Given the description of an element on the screen output the (x, y) to click on. 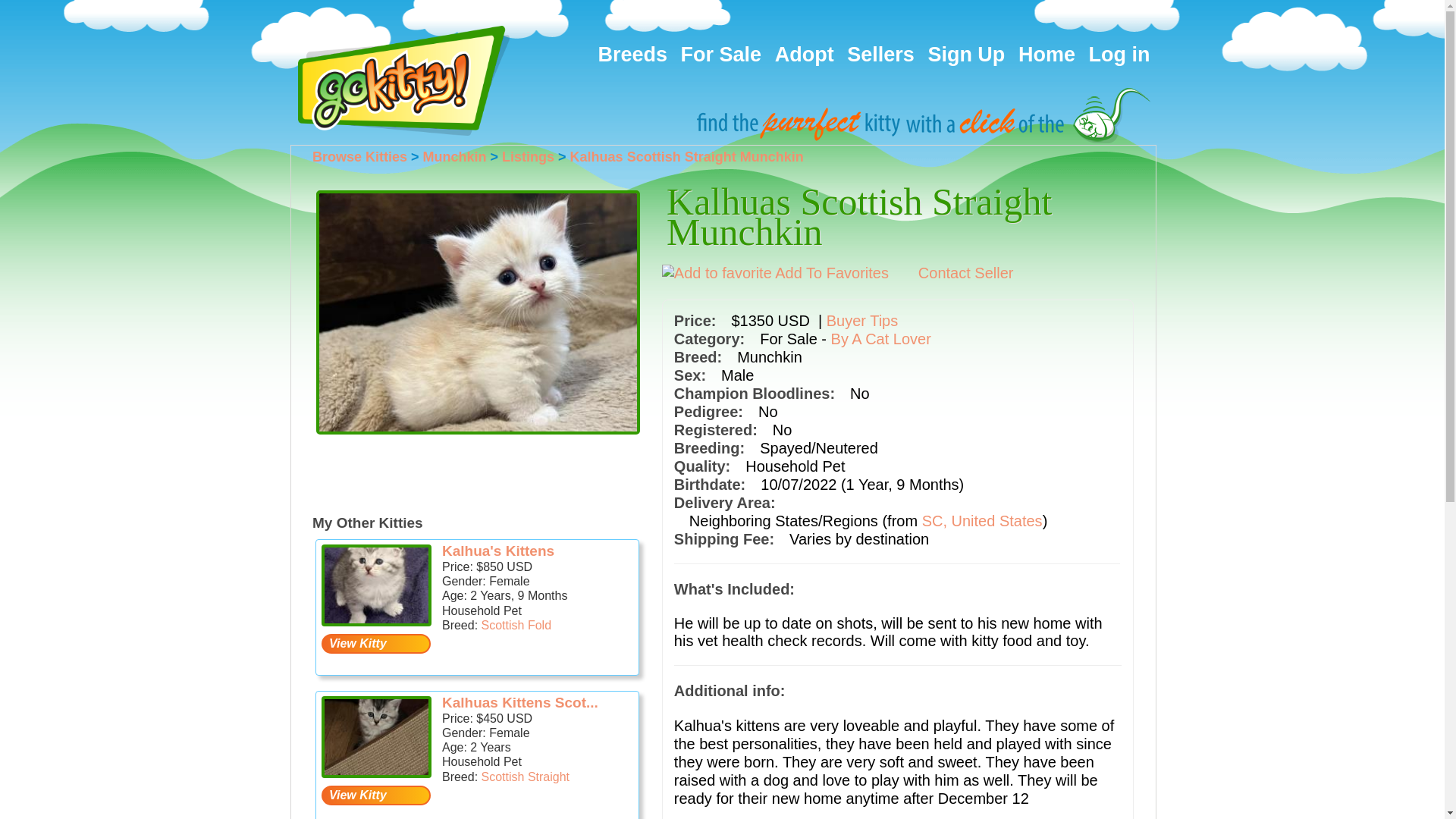
Munchkin (454, 156)
Important tips to buy a cat safely (862, 320)
View Kitty (375, 643)
View Kitty (375, 643)
GoKitty.com: Cats and Kittens For Sale (402, 80)
Scottish Fold (516, 625)
Kalhuas Kittens Scot... (520, 702)
Adopt (804, 54)
Browse Kitties (360, 156)
Kalhua's Kittens - Scottish Fold Cat For Sale -  (375, 585)
Home (1046, 54)
View Kitty (375, 795)
Kalhuas Scottish Straight Munchkin (686, 156)
Breeds (631, 54)
